Given the description of an element on the screen output the (x, y) to click on. 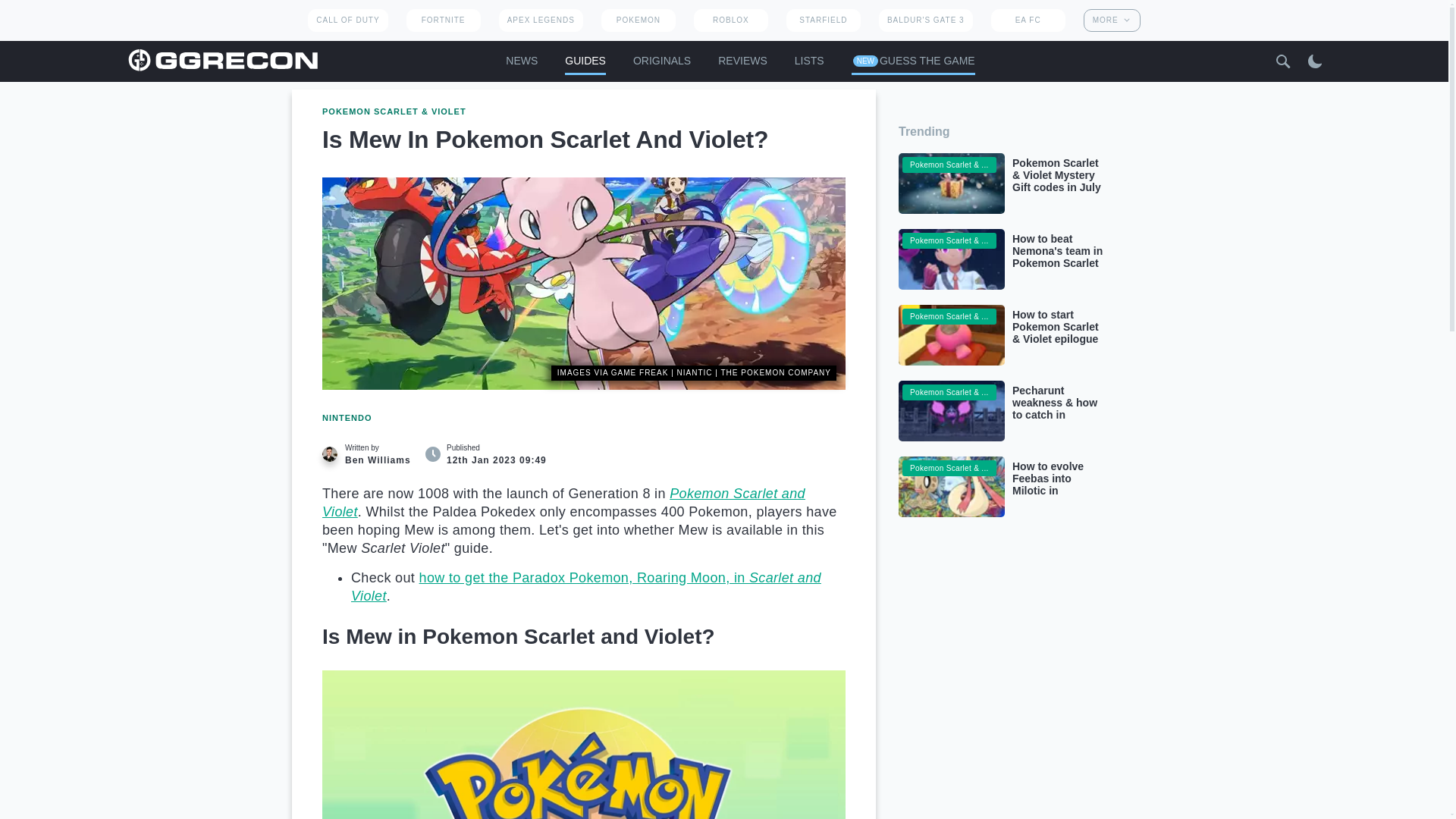
ROBLOX (731, 20)
BALDUR'S GATE 3 (925, 20)
POKEMON (638, 20)
CALL OF DUTY (347, 20)
STARFIELD (823, 20)
EA FC (1028, 20)
Roaring Moon Location In Pokemon Scarlet And Violet (585, 586)
MORE (1111, 20)
APEX LEGENDS (541, 20)
Ben Williams (329, 453)
authorlink (369, 454)
FORTNITE (443, 20)
Is Mew In Pokemon Scarlet And Violet? (583, 283)
